Given the description of an element on the screen output the (x, y) to click on. 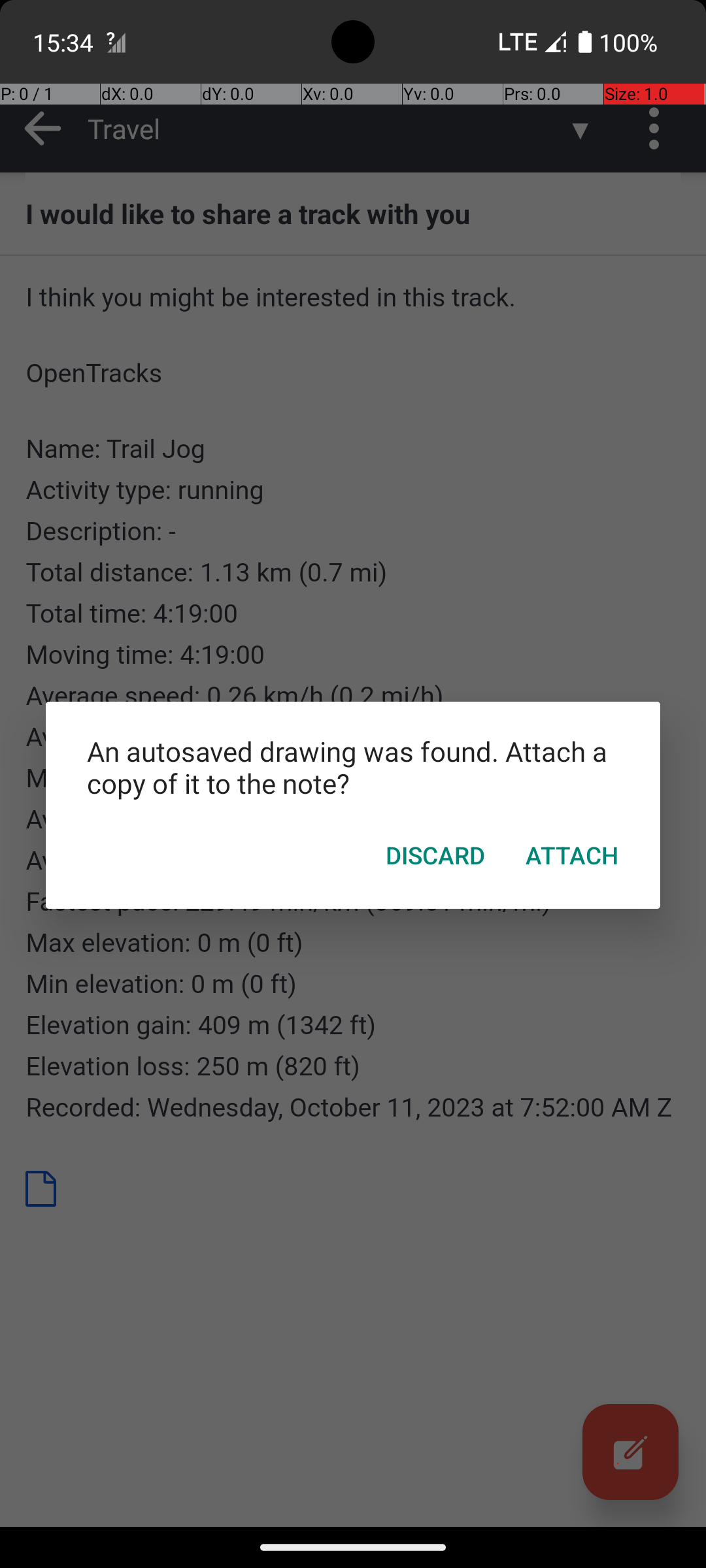
An autosaved drawing was found. Attach a copy of it to the note? Element type: android.widget.TextView (352, 766)
DISCARD Element type: android.widget.Button (435, 854)
ATTACH Element type: android.widget.Button (572, 854)
